Given the description of an element on the screen output the (x, y) to click on. 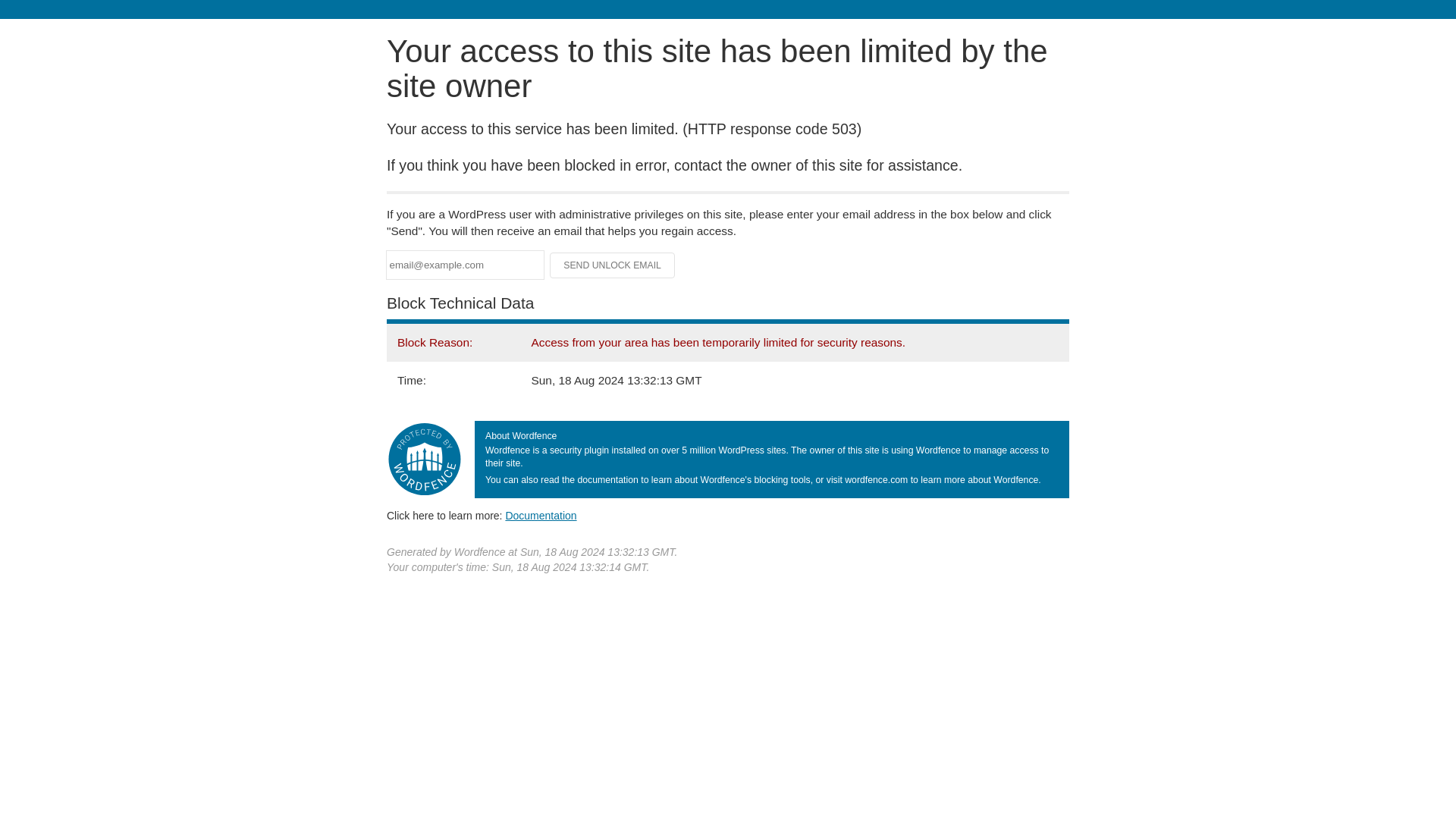
Documentation (540, 515)
Send Unlock Email (612, 265)
Send Unlock Email (612, 265)
